Given the description of an element on the screen output the (x, y) to click on. 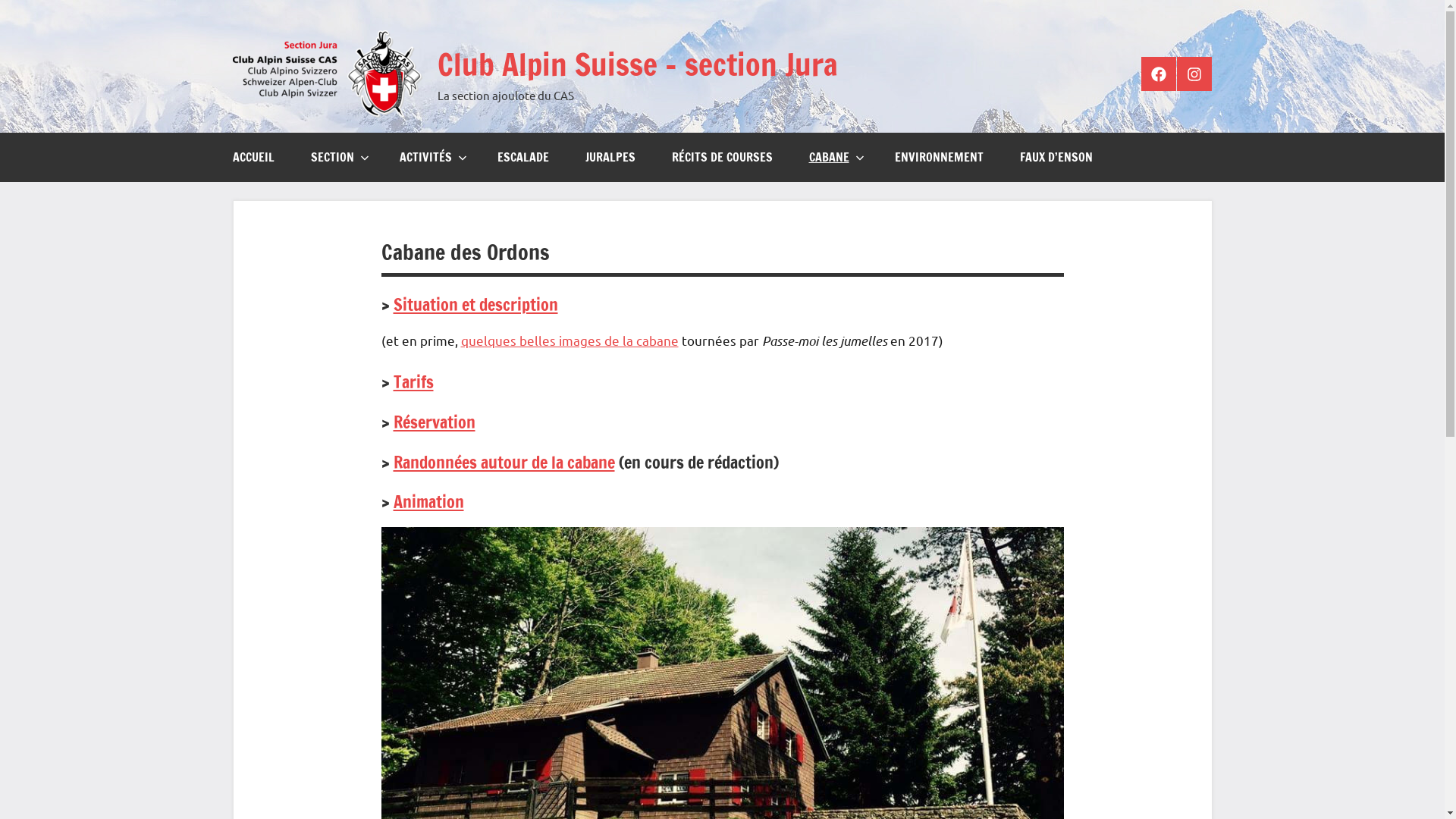
ENVIRONNEMENT Element type: text (938, 157)
Facebook Element type: text (1158, 73)
quelques belles images de la cabane Element type: text (569, 340)
ACCUEIL Element type: text (252, 157)
Tarifs Element type: text (412, 381)
CABANE Element type: text (832, 157)
JURALPES Element type: text (610, 157)
Situation et description Element type: text (474, 304)
Instagram Element type: text (1193, 73)
SECTION Element type: text (336, 157)
ESCALADE Element type: text (523, 157)
Animation Element type: text (427, 501)
